Given the description of an element on the screen output the (x, y) to click on. 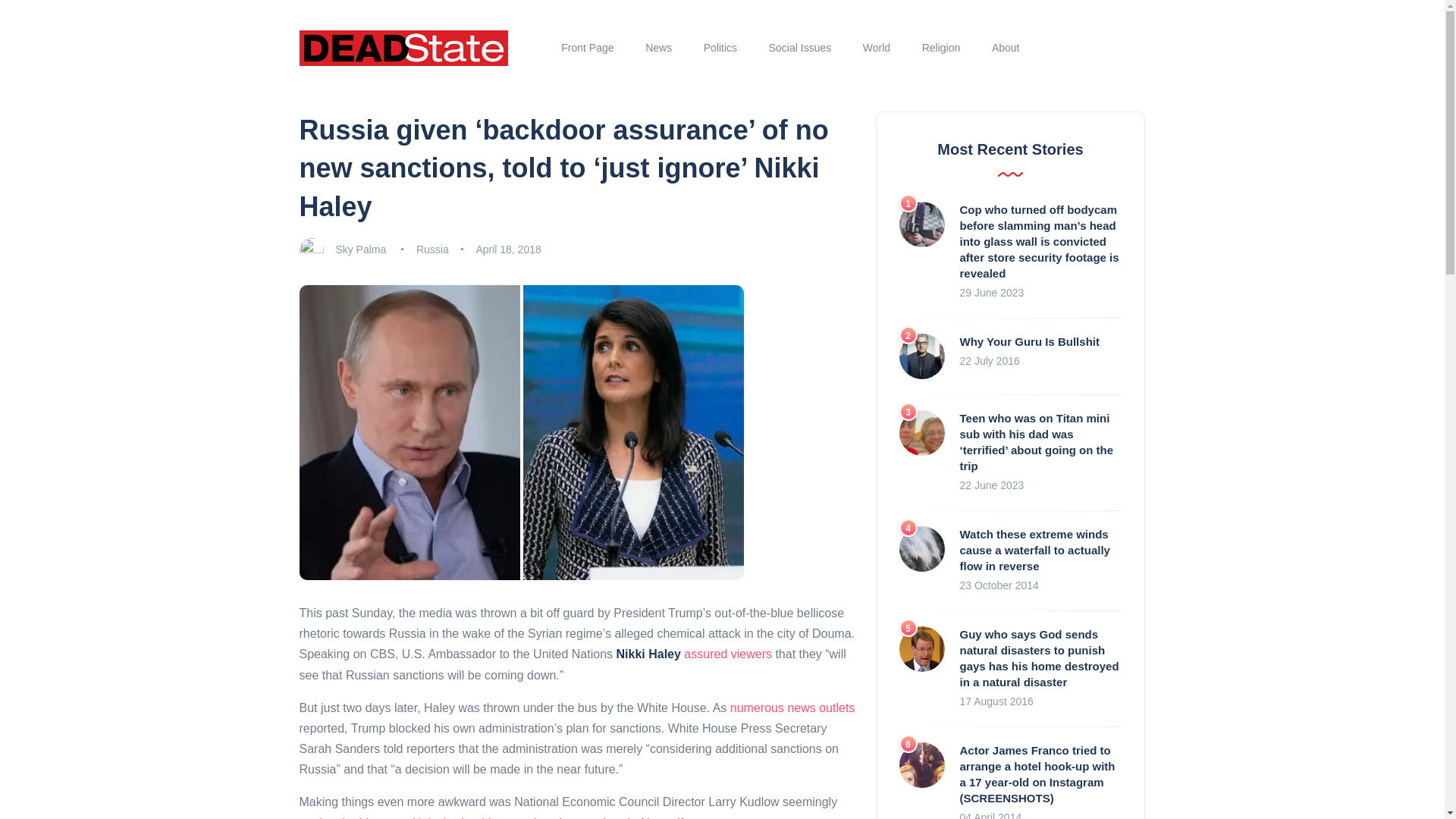
News (657, 47)
Posts by Sky Palma (359, 249)
About (1005, 47)
World (876, 47)
Front Page (588, 47)
numerous news outlets (793, 707)
Sky Palma (359, 249)
Politics (719, 47)
Social Issues (799, 47)
assured viewers (727, 653)
